Given the description of an element on the screen output the (x, y) to click on. 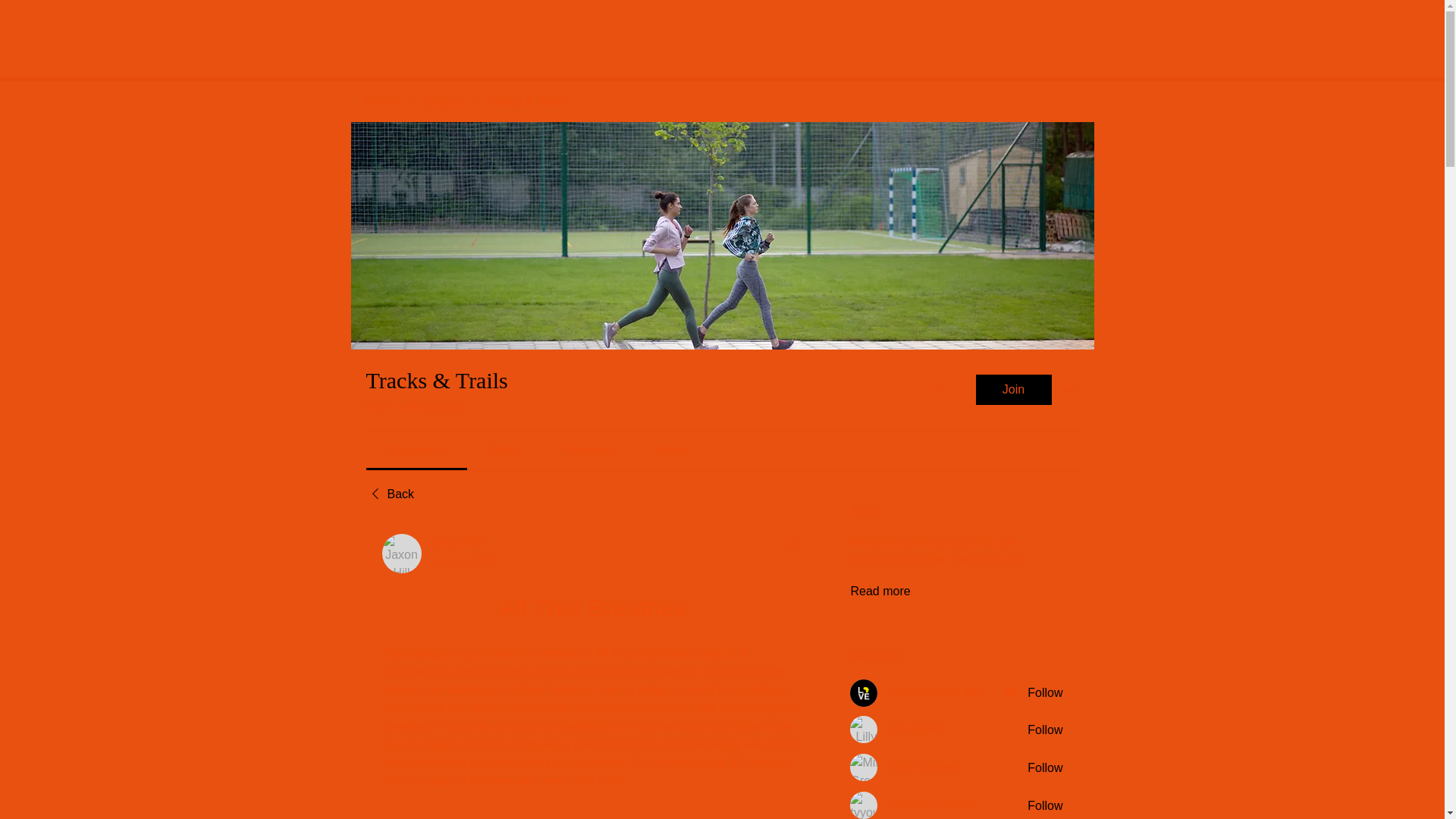
Follow (1044, 692)
Back (389, 494)
Jaxon Hill (401, 553)
June 11, 2023 (463, 561)
Lilly Milani (863, 728)
Follow (1044, 805)
Follow (1044, 768)
Nathan Smith Ministries (863, 692)
Follow (1044, 729)
Home (381, 101)
tvyoutube tvstart (863, 805)
Join (1013, 389)
Read more (880, 591)
Groups (441, 101)
Milas Greden (863, 767)
